Given the description of an element on the screen output the (x, y) to click on. 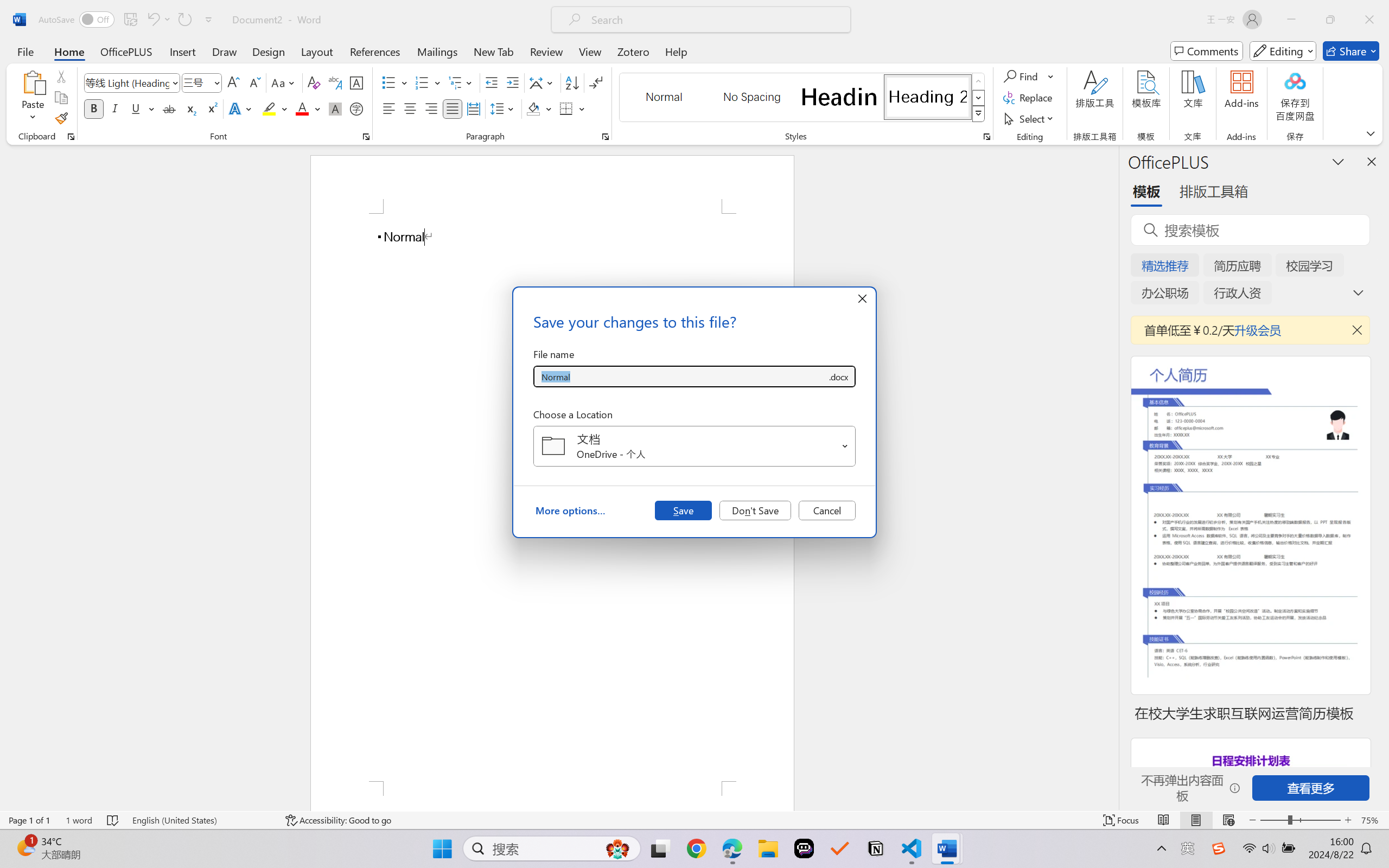
Change Case (284, 82)
Align Right (431, 108)
Center (409, 108)
Notion (875, 848)
Borders (571, 108)
Italic (115, 108)
Zoom Out (1273, 819)
Distributed (473, 108)
Select (1030, 118)
Open (844, 446)
Shading RGB(0, 0, 0) (533, 108)
Save as type (837, 376)
Choose a Location (694, 446)
